Given the description of an element on the screen output the (x, y) to click on. 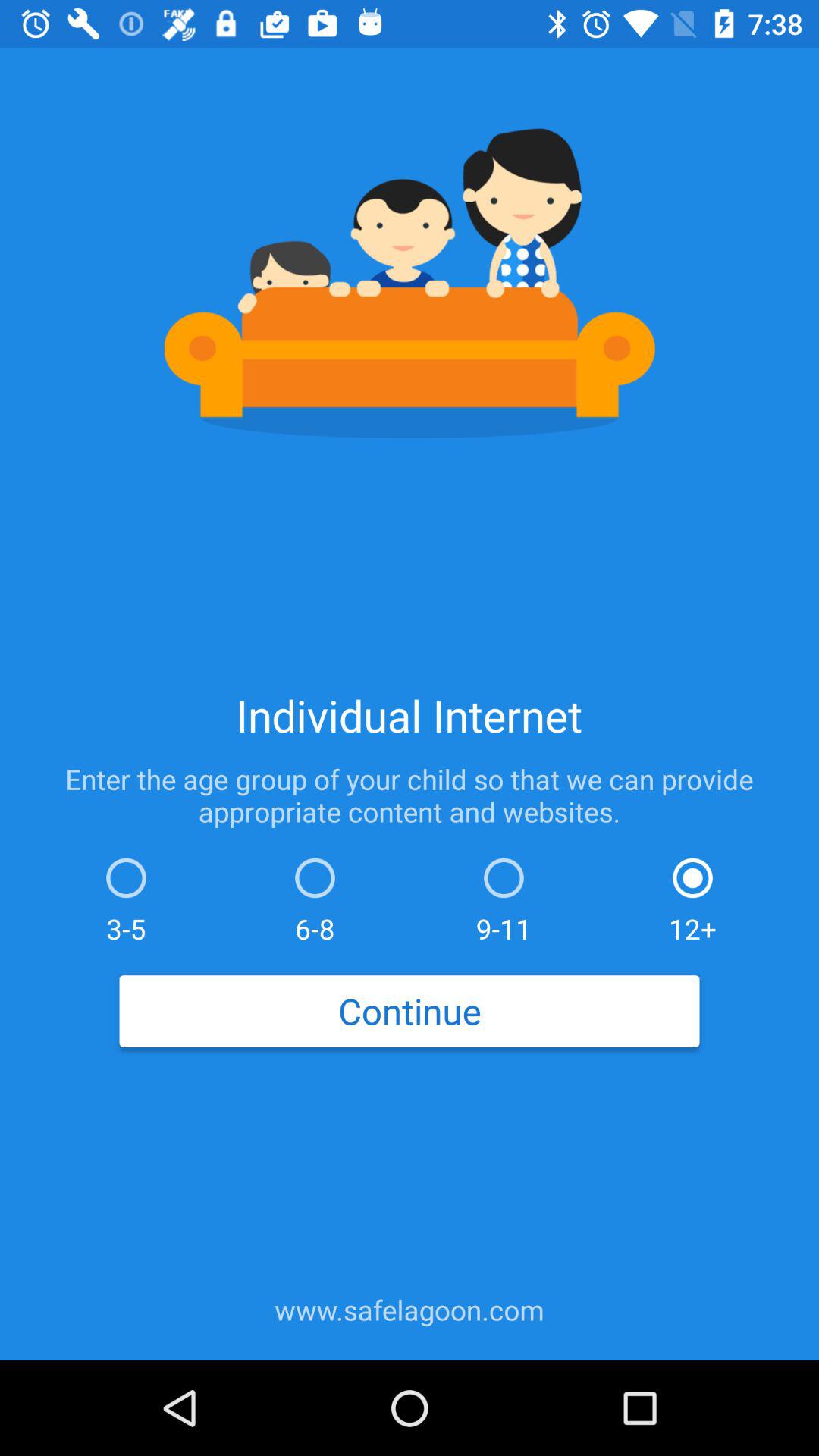
turn on the item next to 9-11 item (314, 896)
